Given the description of an element on the screen output the (x, y) to click on. 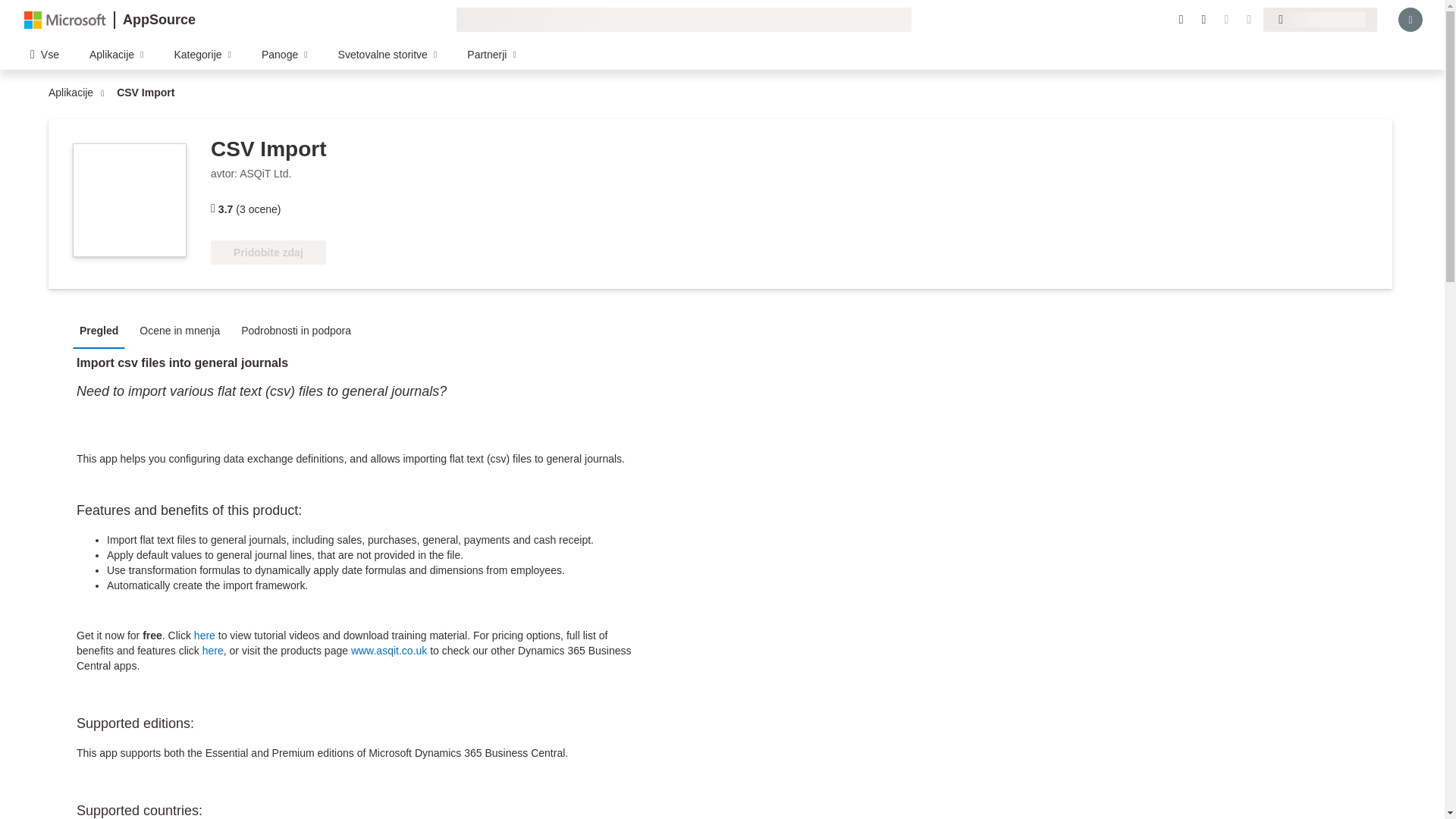
www.asqit.co.uk (388, 650)
Ocene in mnenja (183, 329)
Pridobite zdaj (268, 252)
Podrobnosti in podpora (299, 329)
AppSource (158, 19)
here (204, 635)
Pregled (102, 329)
Aplikacije (74, 92)
Microsoft (65, 18)
here (213, 650)
